Given the description of an element on the screen output the (x, y) to click on. 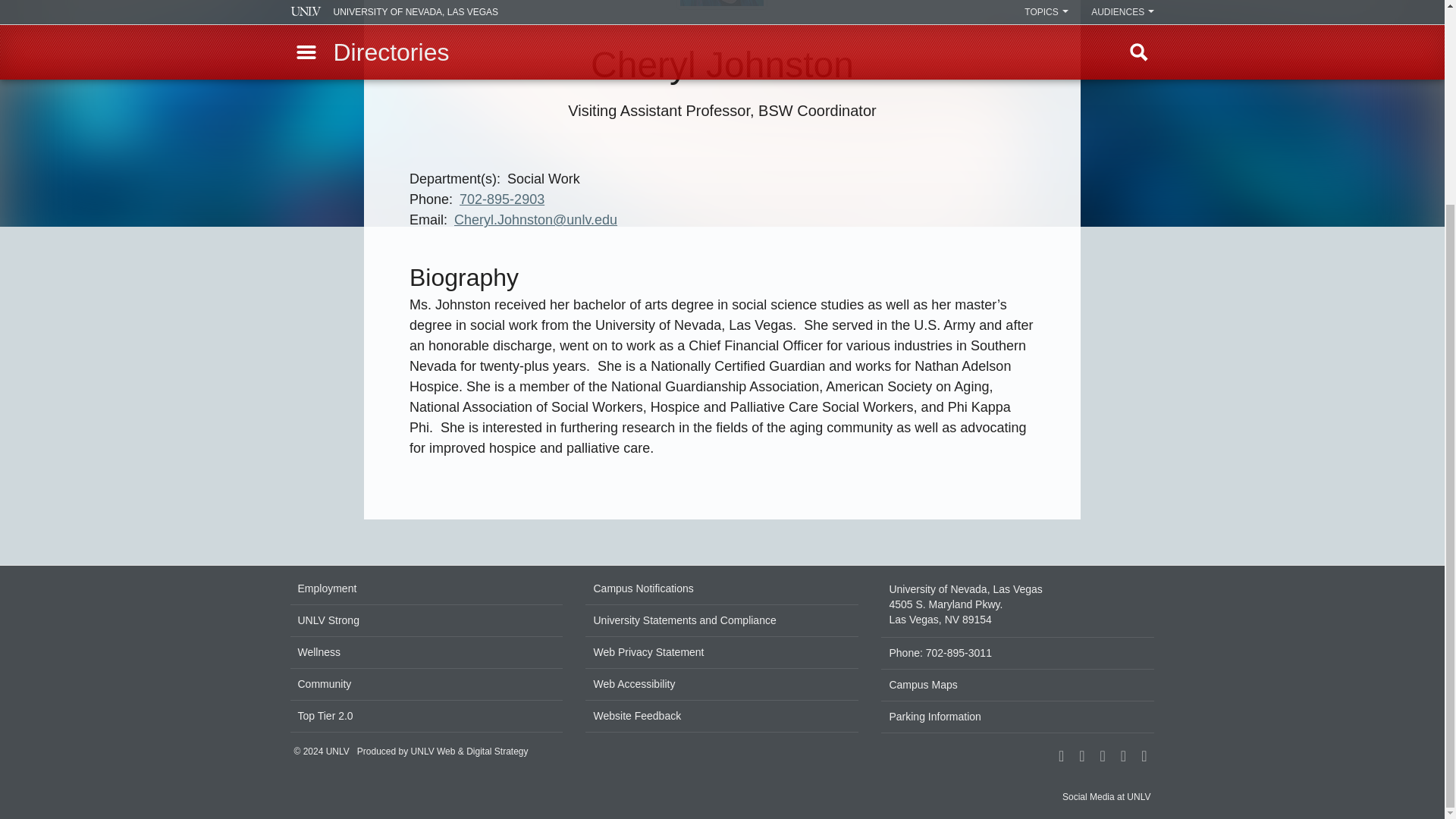
Follow us on Twitter (1122, 757)
Watch us on YouTube (1143, 757)
View Campus Map (1017, 605)
Follow us on TikTok (1102, 757)
Find us on Facebook (1060, 757)
Find us on Instagram (1081, 757)
